Given the description of an element on the screen output the (x, y) to click on. 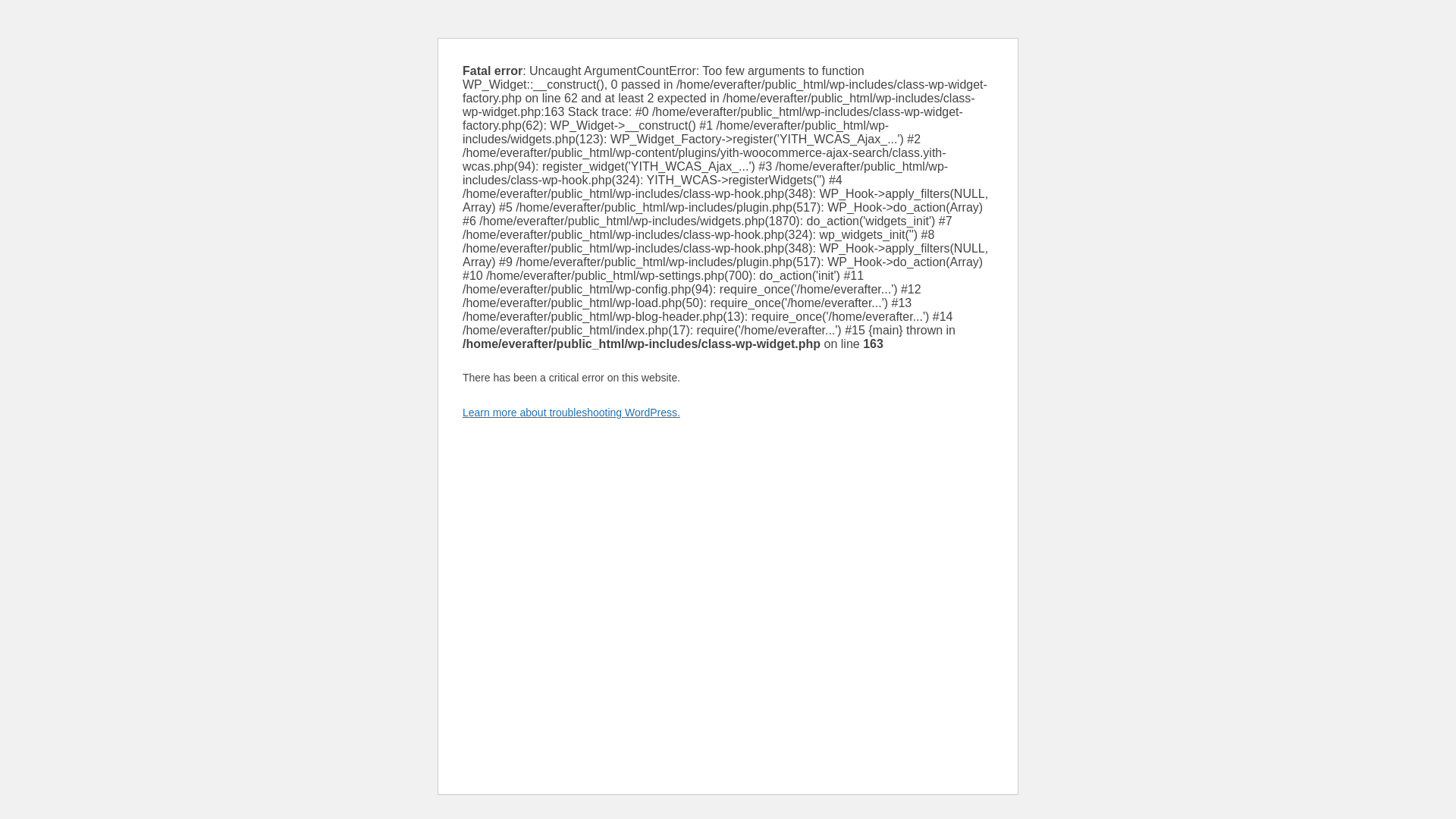
Learn more about troubleshooting WordPress. (571, 412)
